Given the description of an element on the screen output the (x, y) to click on. 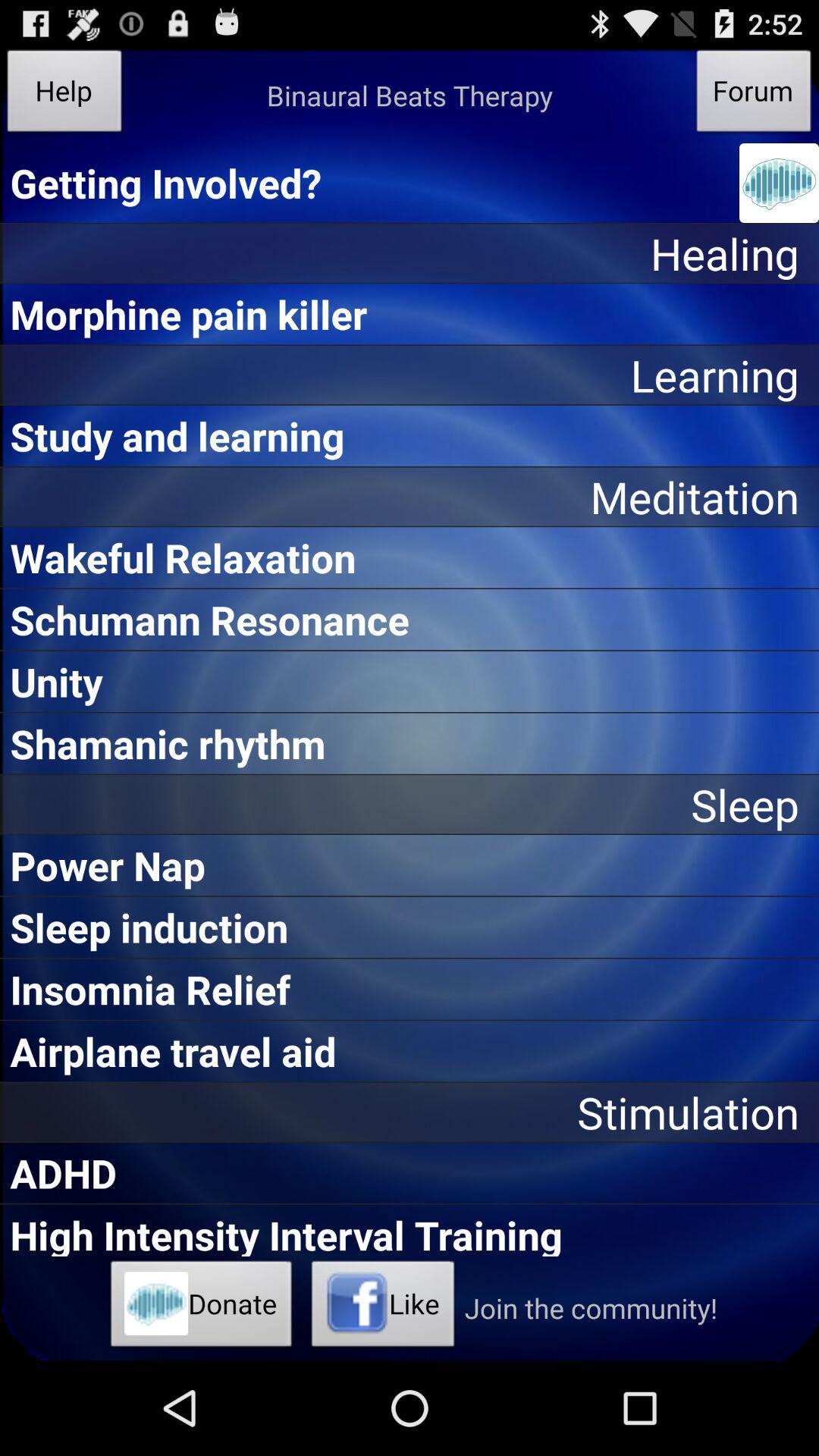
press icon to the right of like (590, 1307)
